Given the description of an element on the screen output the (x, y) to click on. 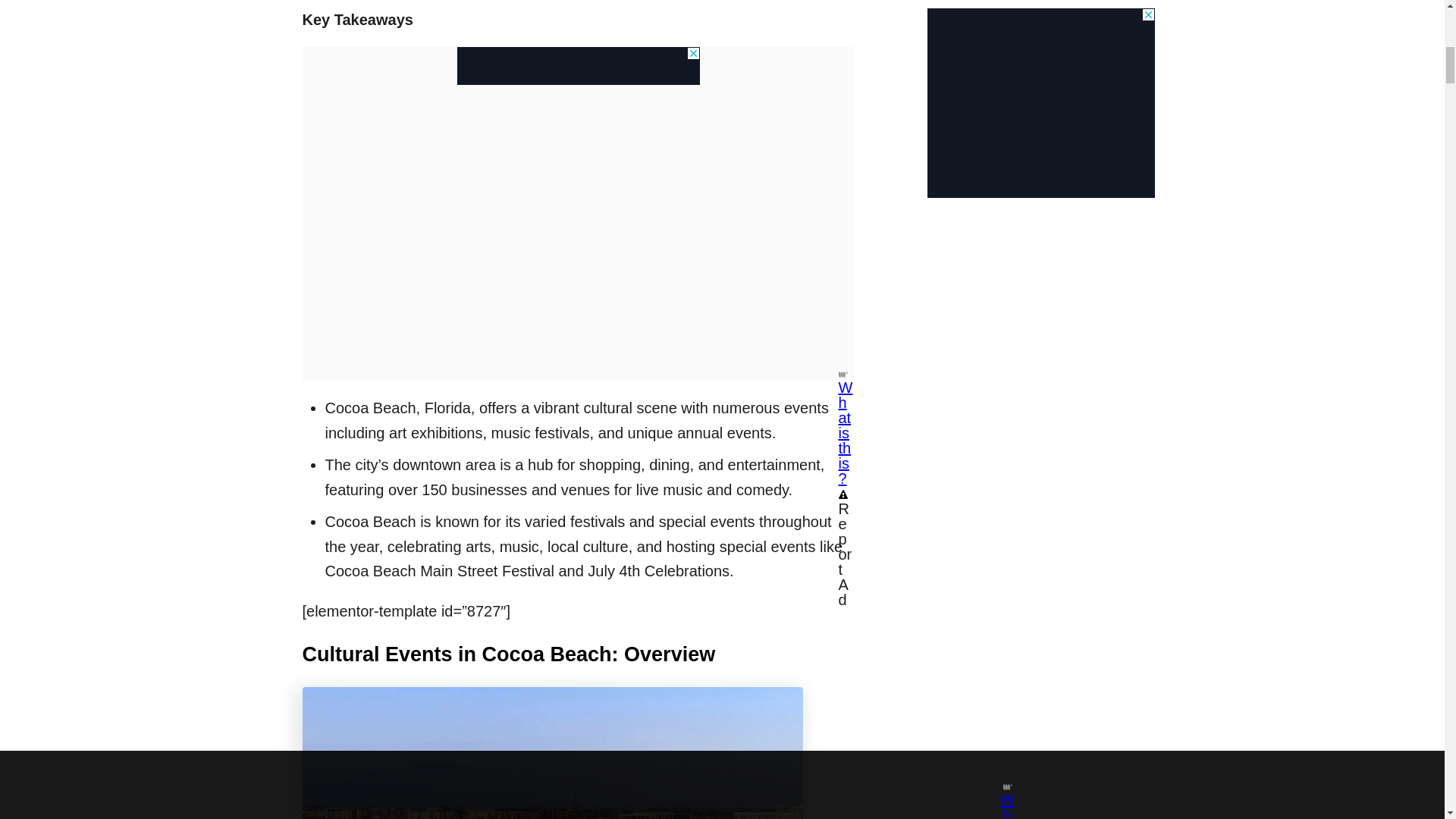
3rd party ad content (577, 65)
